Given the description of an element on the screen output the (x, y) to click on. 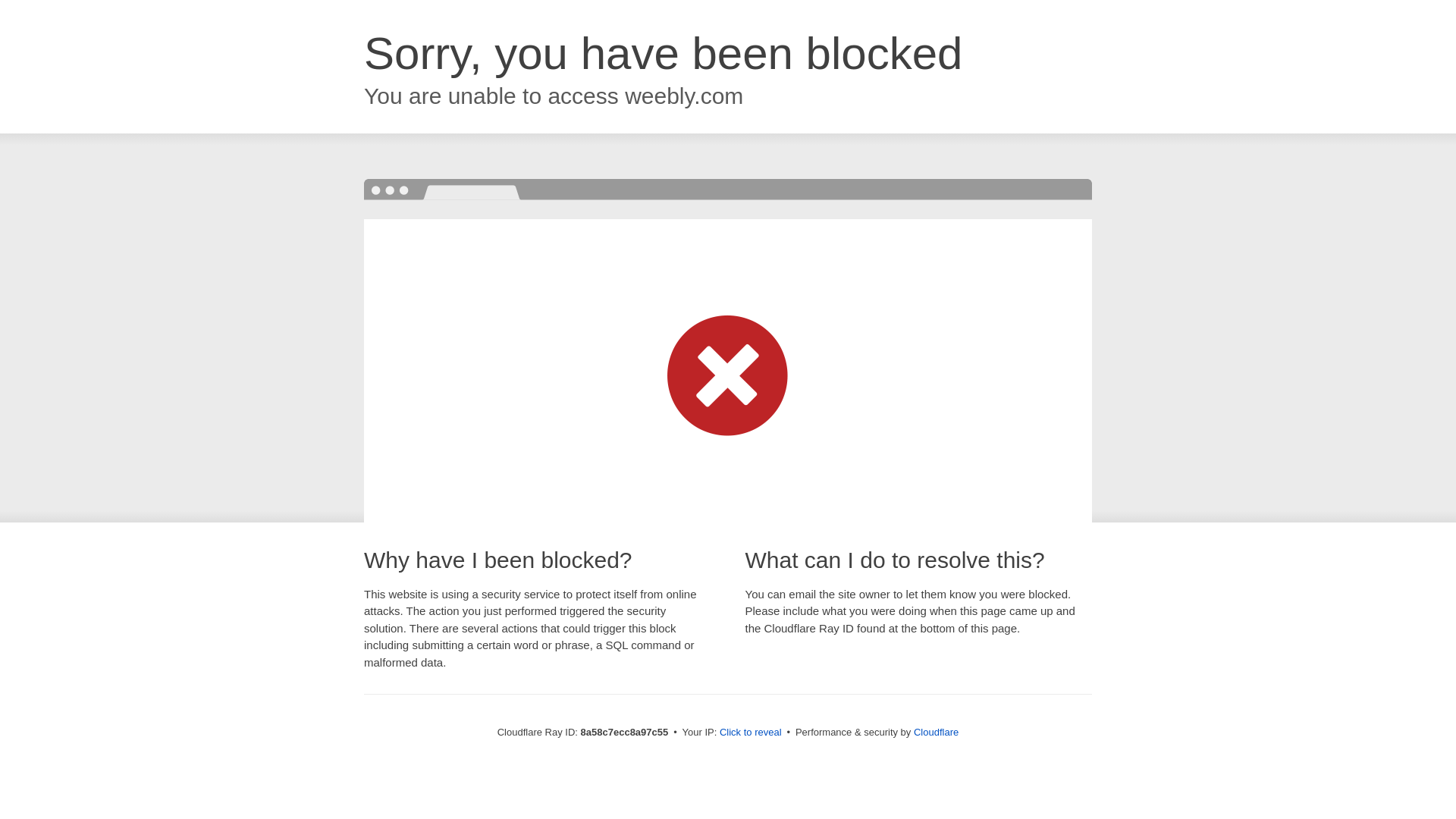
Cloudflare (936, 731)
Click to reveal (750, 732)
